Given the description of an element on the screen output the (x, y) to click on. 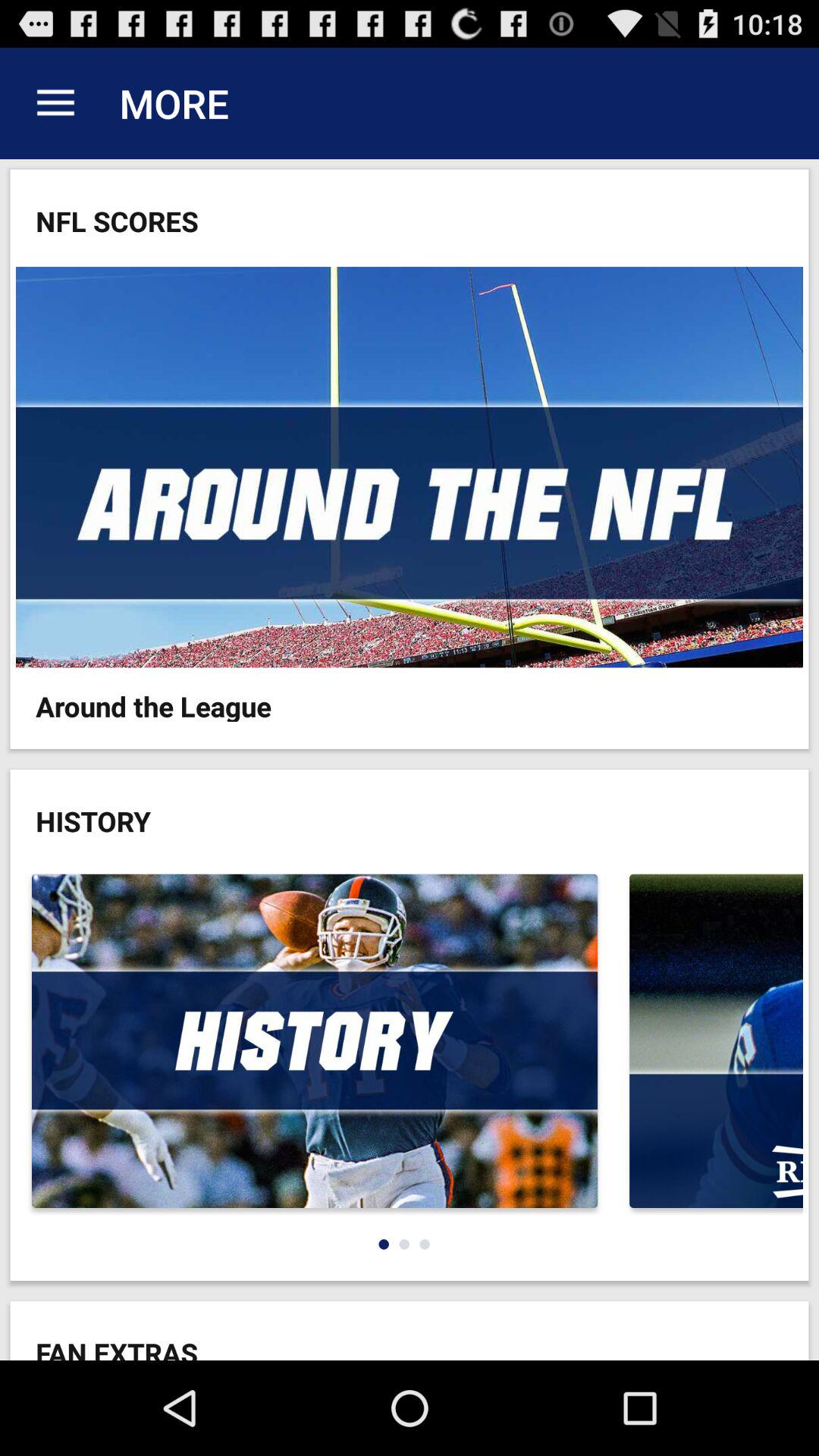
open item above nfl scores icon (55, 103)
